Given the description of an element on the screen output the (x, y) to click on. 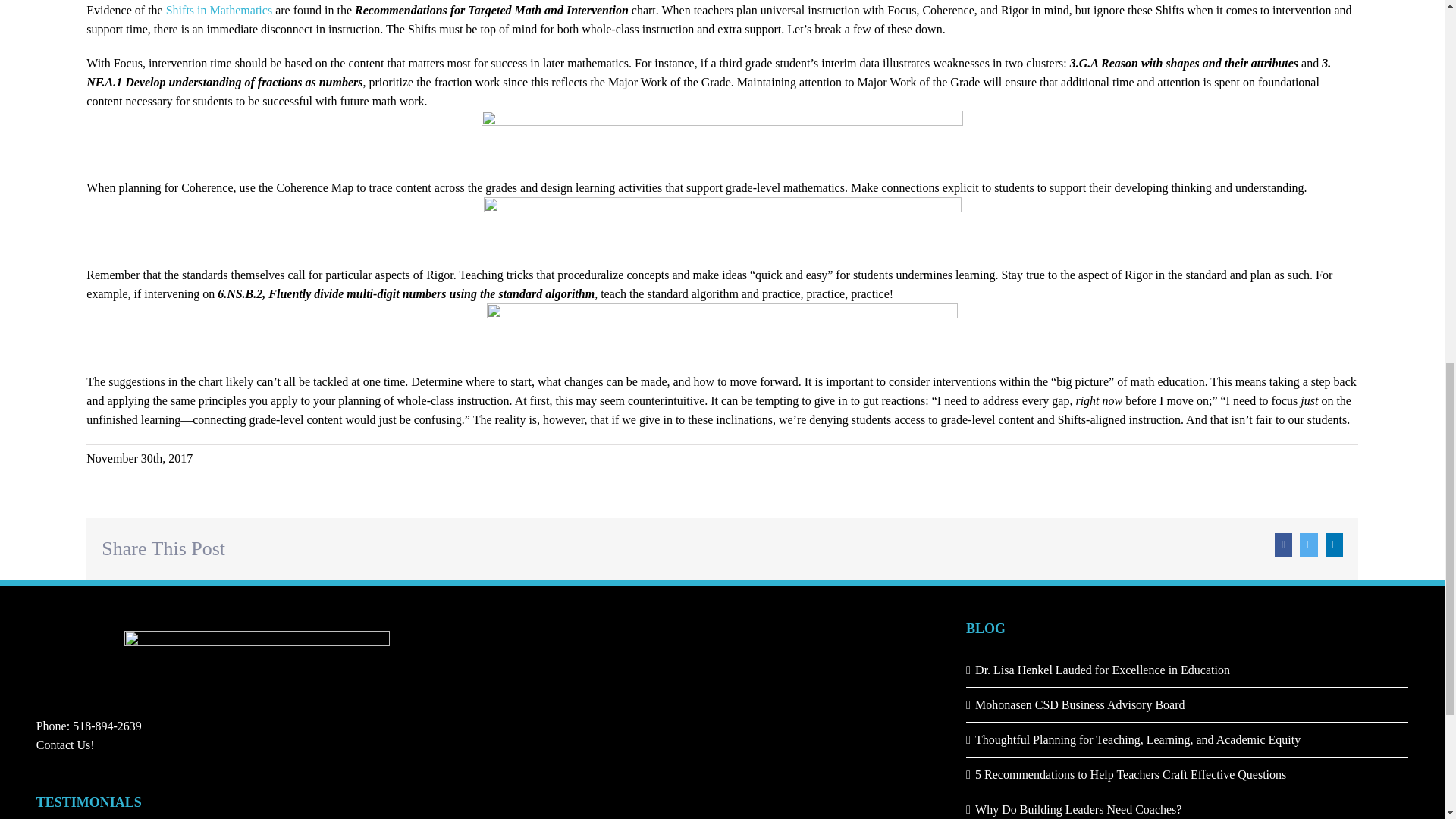
Dr. Lisa Henkel Lauded for Excellence in Education (1187, 669)
Mohonasen CSD Business Advisory Board (1187, 704)
Shifts in Mathematics (218, 10)
518-894-2639 (106, 725)
Contact Us! (65, 744)
